Given the description of an element on the screen output the (x, y) to click on. 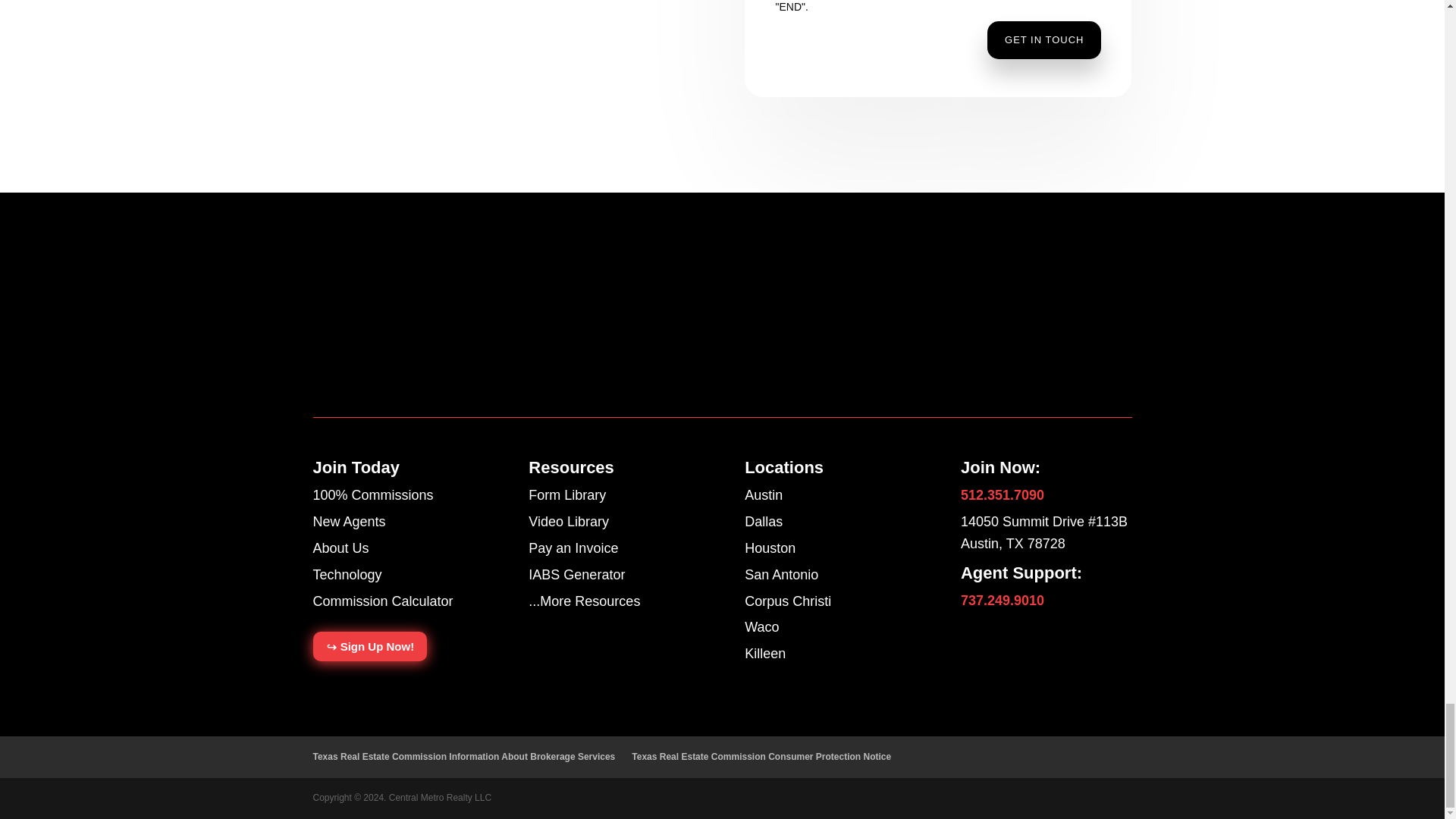
CM-Logo dark background (374, 323)
